Given the description of an element on the screen output the (x, y) to click on. 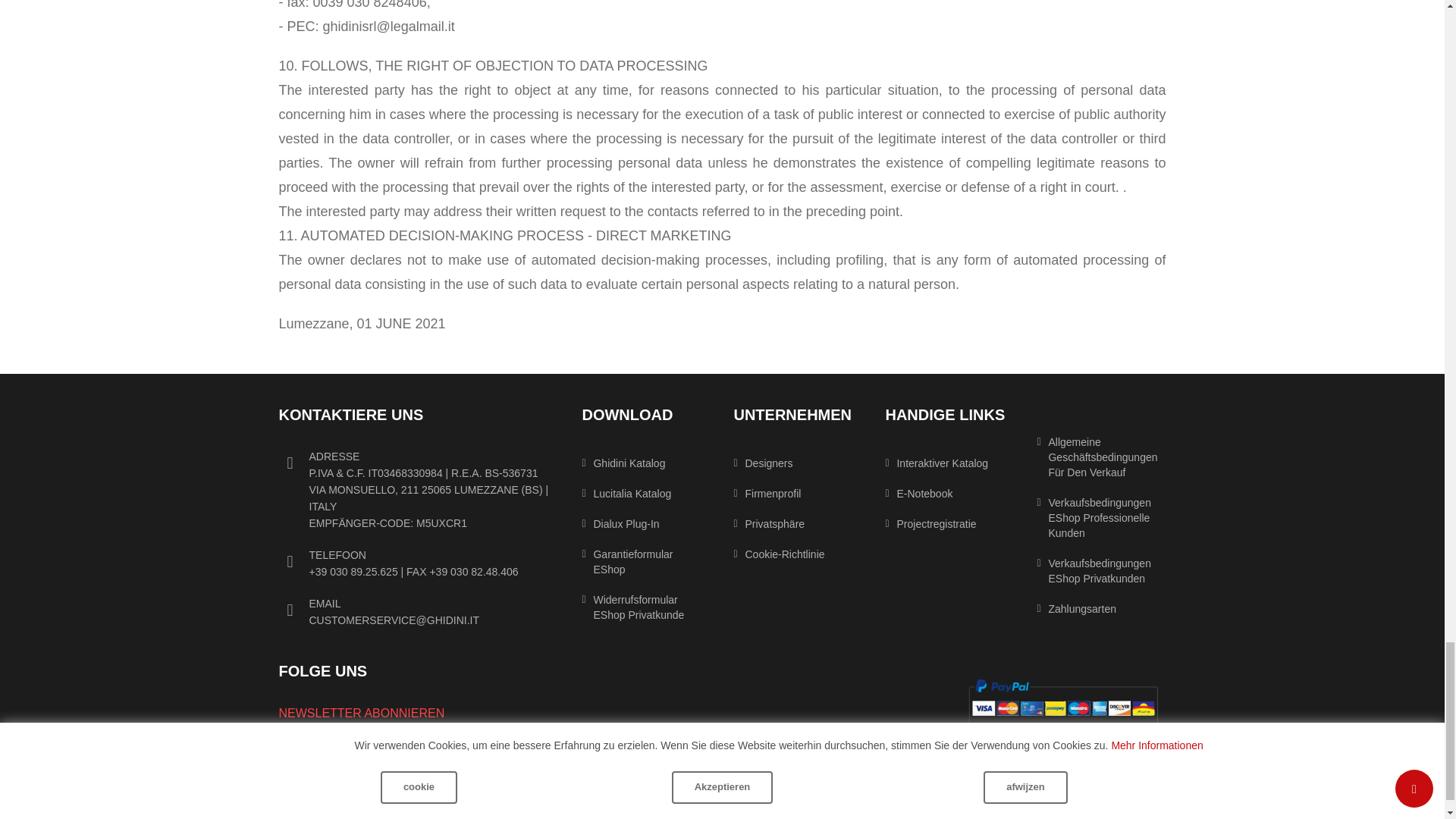
Pinterest (428, 741)
Come funziona PayPal (1062, 703)
Instagram (296, 741)
LinkedIn (362, 741)
Bimobject (495, 741)
YouTube (395, 741)
Facebook (328, 741)
ArchiProducts (461, 741)
